Given the description of an element on the screen output the (x, y) to click on. 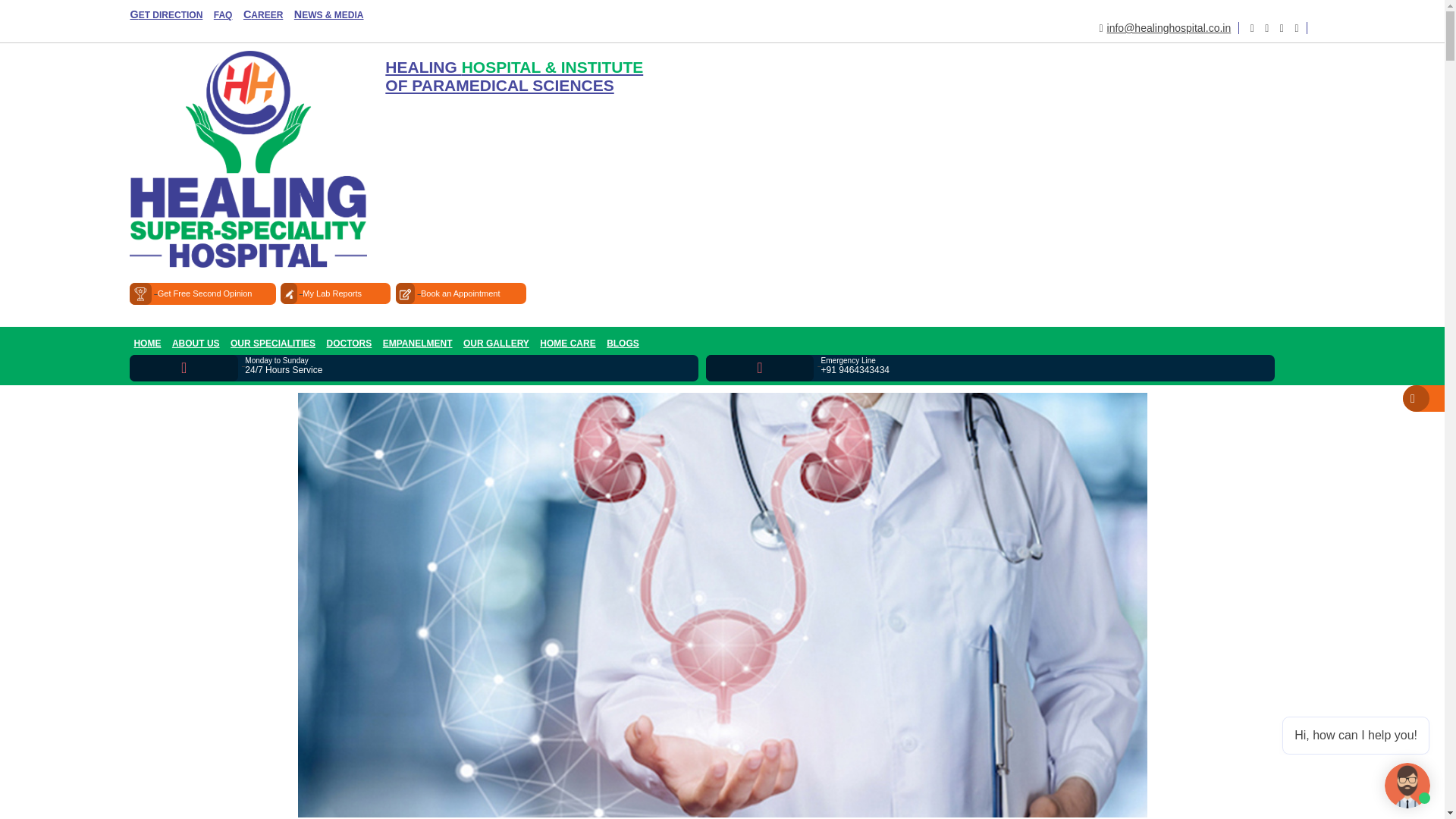
ABOUT US (196, 342)
My Lab Reports (335, 292)
Book an Appointment (460, 292)
FAQ (223, 14)
GET DIRECTION (165, 14)
BLOGS (622, 342)
Get Free Second Opinion (202, 293)
HOME (146, 342)
HOME CARE (566, 342)
DOCTORS (349, 342)
OUR SPECIALITIES (272, 342)
CAREER (262, 14)
EMPANELMENT (417, 342)
OUR GALLERY (496, 342)
